Given the description of an element on the screen output the (x, y) to click on. 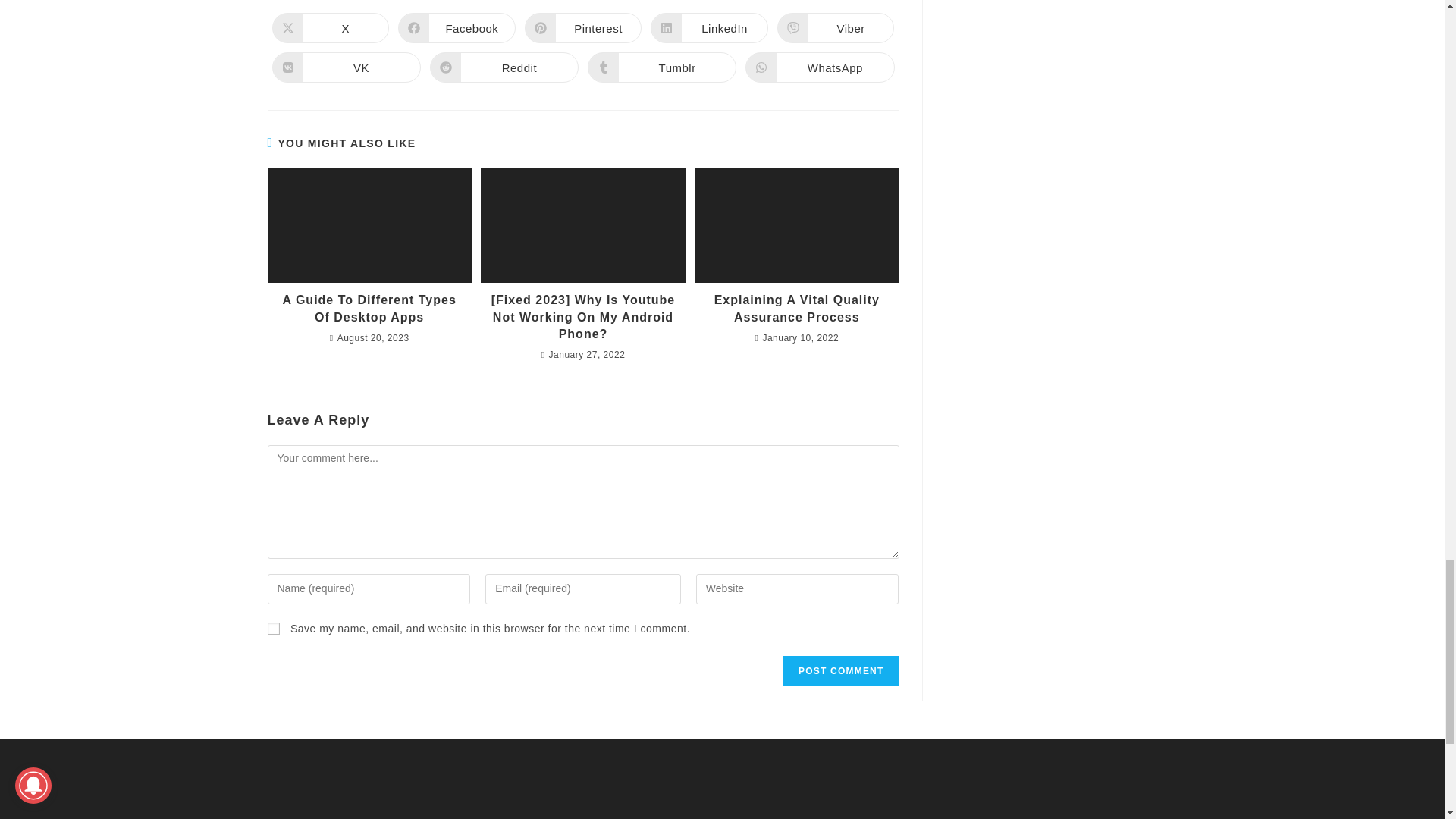
yes (272, 628)
Post Comment (840, 671)
